Given the description of an element on the screen output the (x, y) to click on. 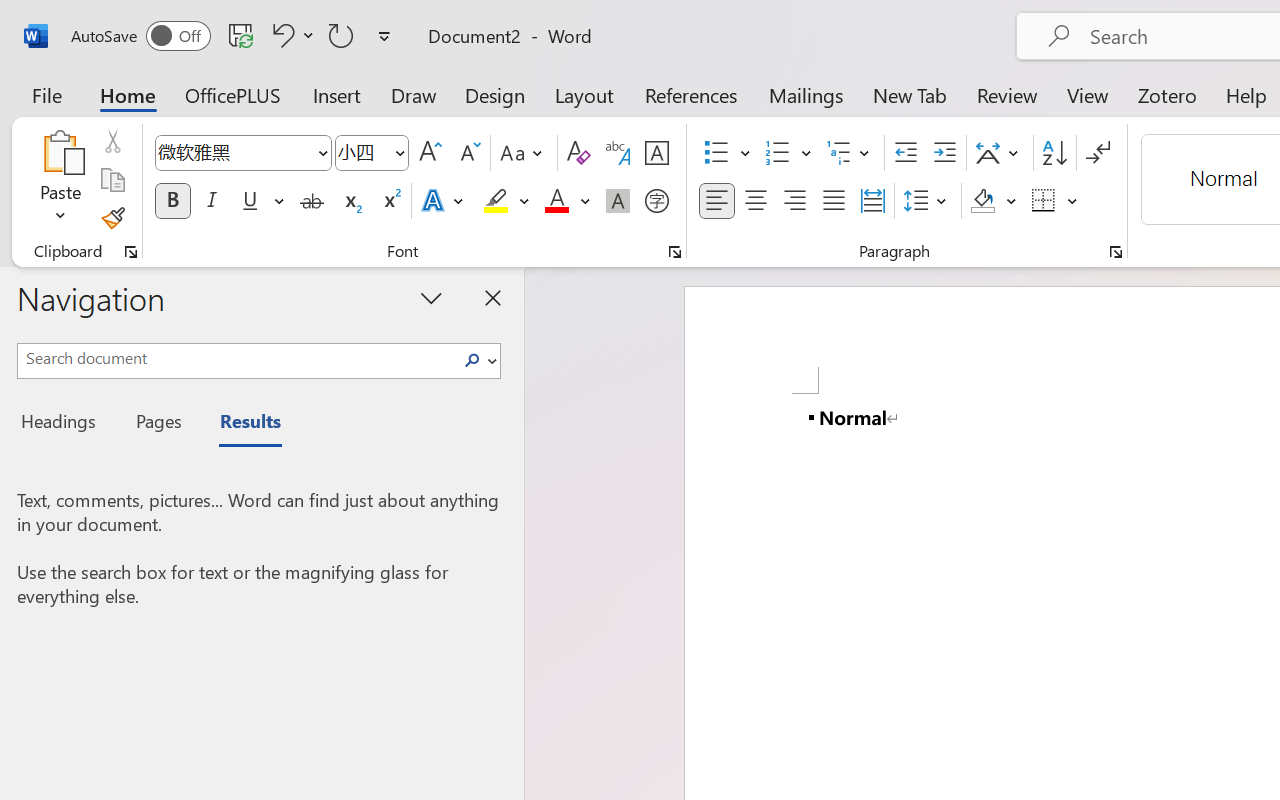
Font (234, 152)
Undo Text Fill Effect (280, 35)
Save (241, 35)
Repeat Text Fill Effect (341, 35)
Clear Formatting (578, 153)
Shrink Font (468, 153)
Bullets (727, 153)
Shading (993, 201)
Font Color Red (556, 201)
Home (127, 94)
Asian Layout (1000, 153)
Enclose Characters... (656, 201)
Design (495, 94)
Undo Text Fill Effect (290, 35)
Bold (172, 201)
